Given the description of an element on the screen output the (x, y) to click on. 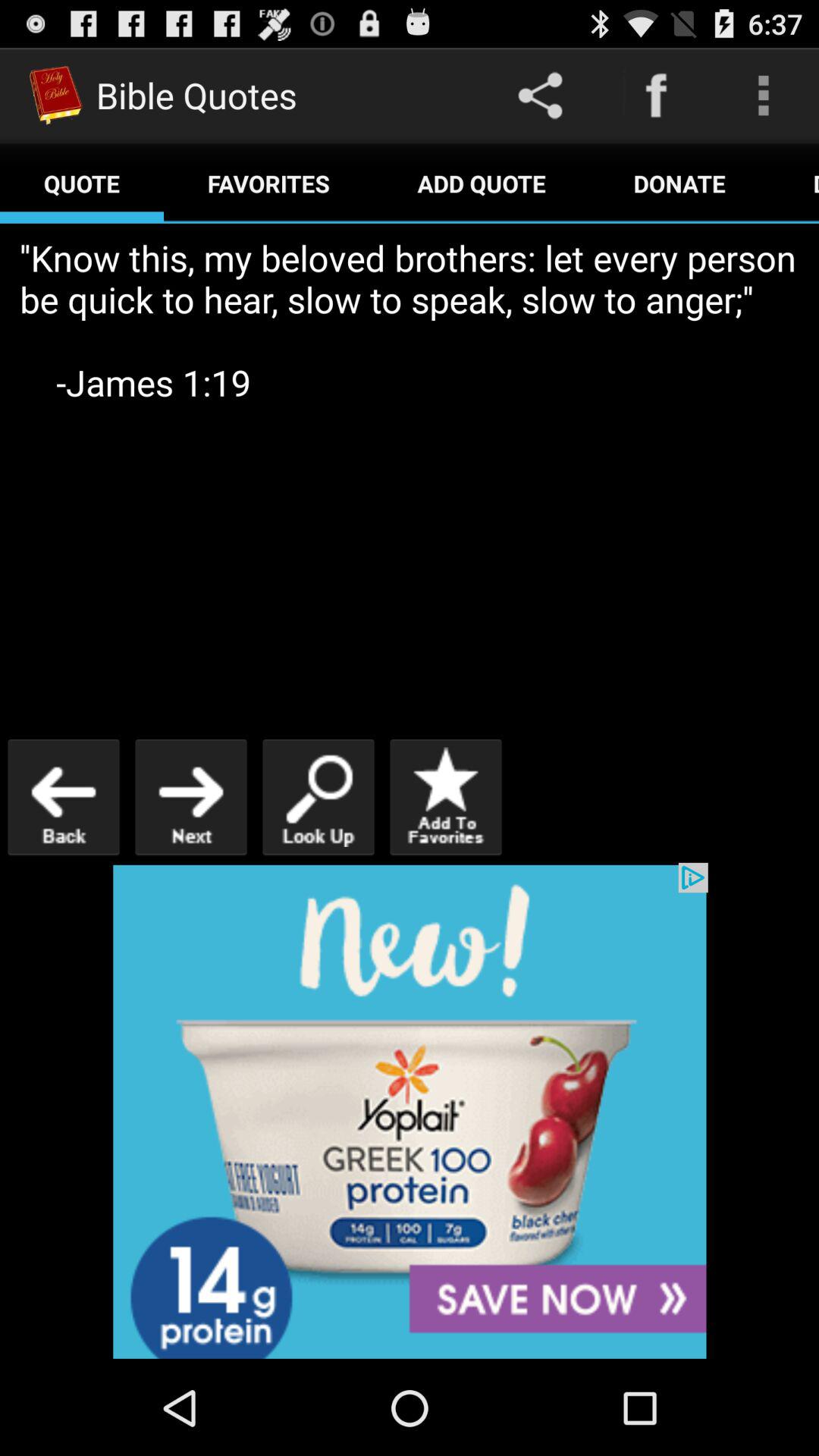
advertising option (409, 1111)
